Given the description of an element on the screen output the (x, y) to click on. 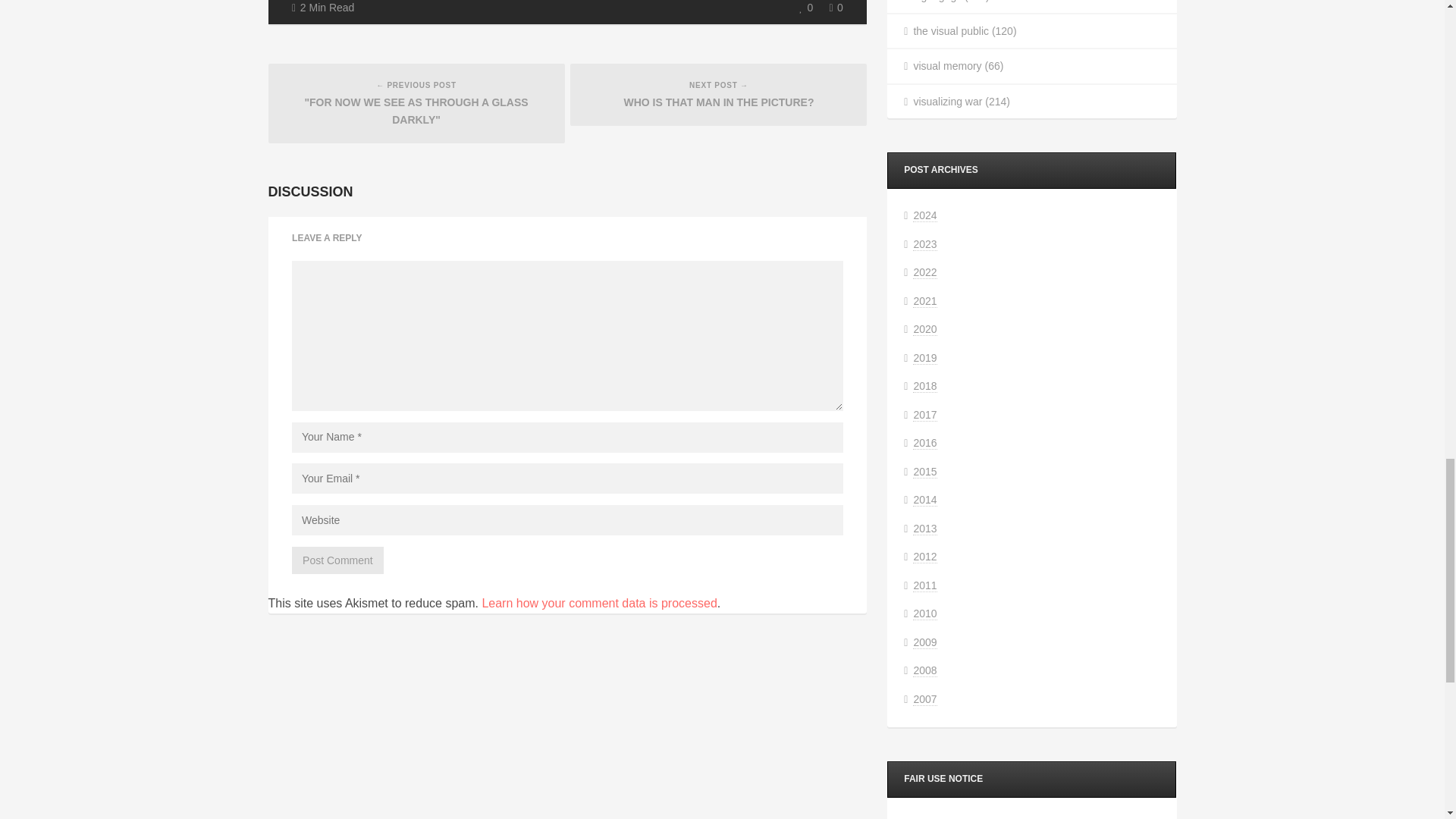
Post Comment (338, 560)
Post Comment (338, 560)
Learn how your comment data is processed (598, 603)
